Given the description of an element on the screen output the (x, y) to click on. 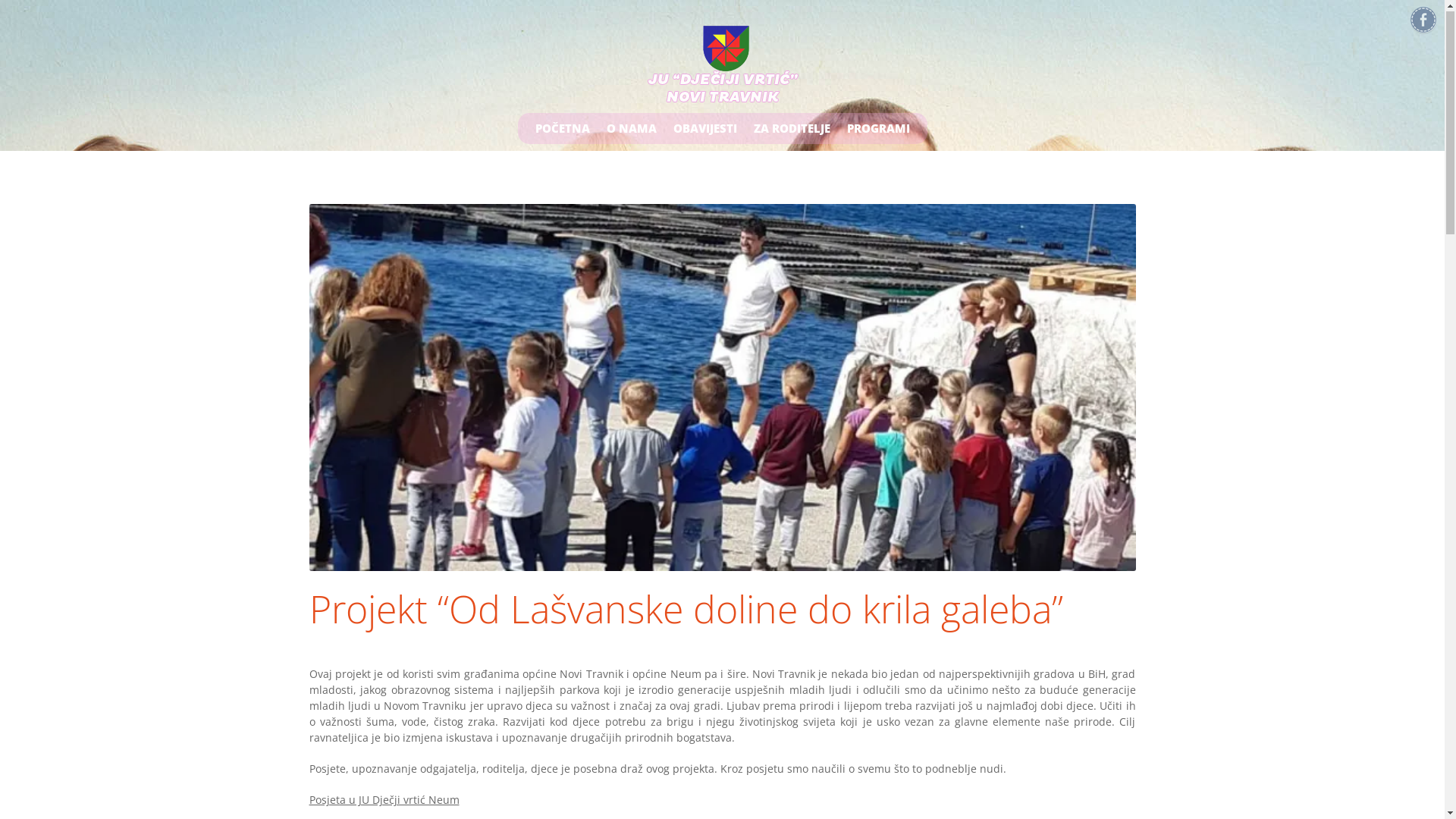
PROGRAMI Element type: text (878, 128)
ZA RODITELJE Element type: text (791, 128)
O NAMA Element type: text (630, 128)
OBAVIJESTI Element type: text (704, 128)
Facebook Element type: text (1423, 20)
